Given the description of an element on the screen output the (x, y) to click on. 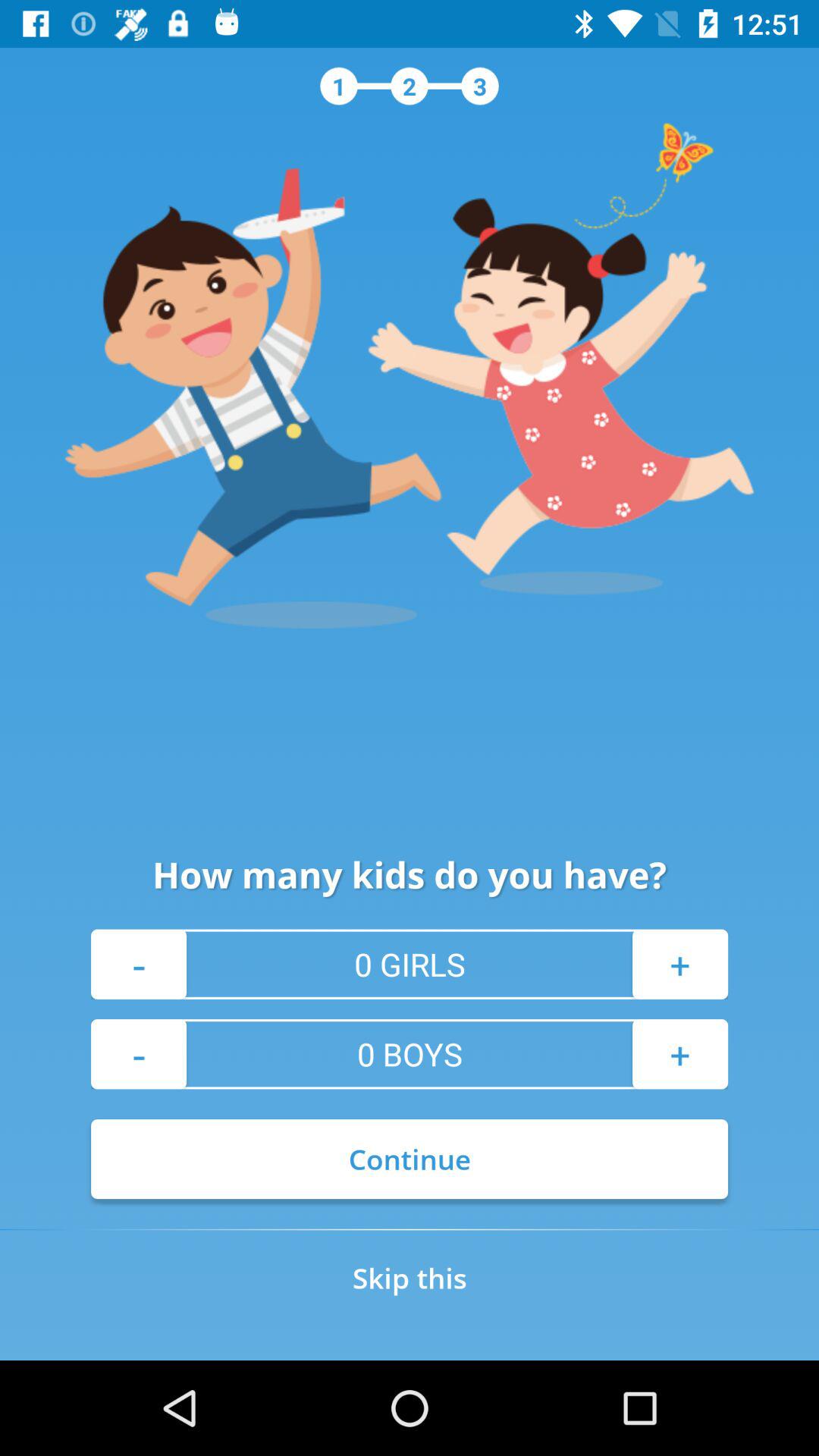
launch - at the bottom left corner (138, 1054)
